Given the description of an element on the screen output the (x, y) to click on. 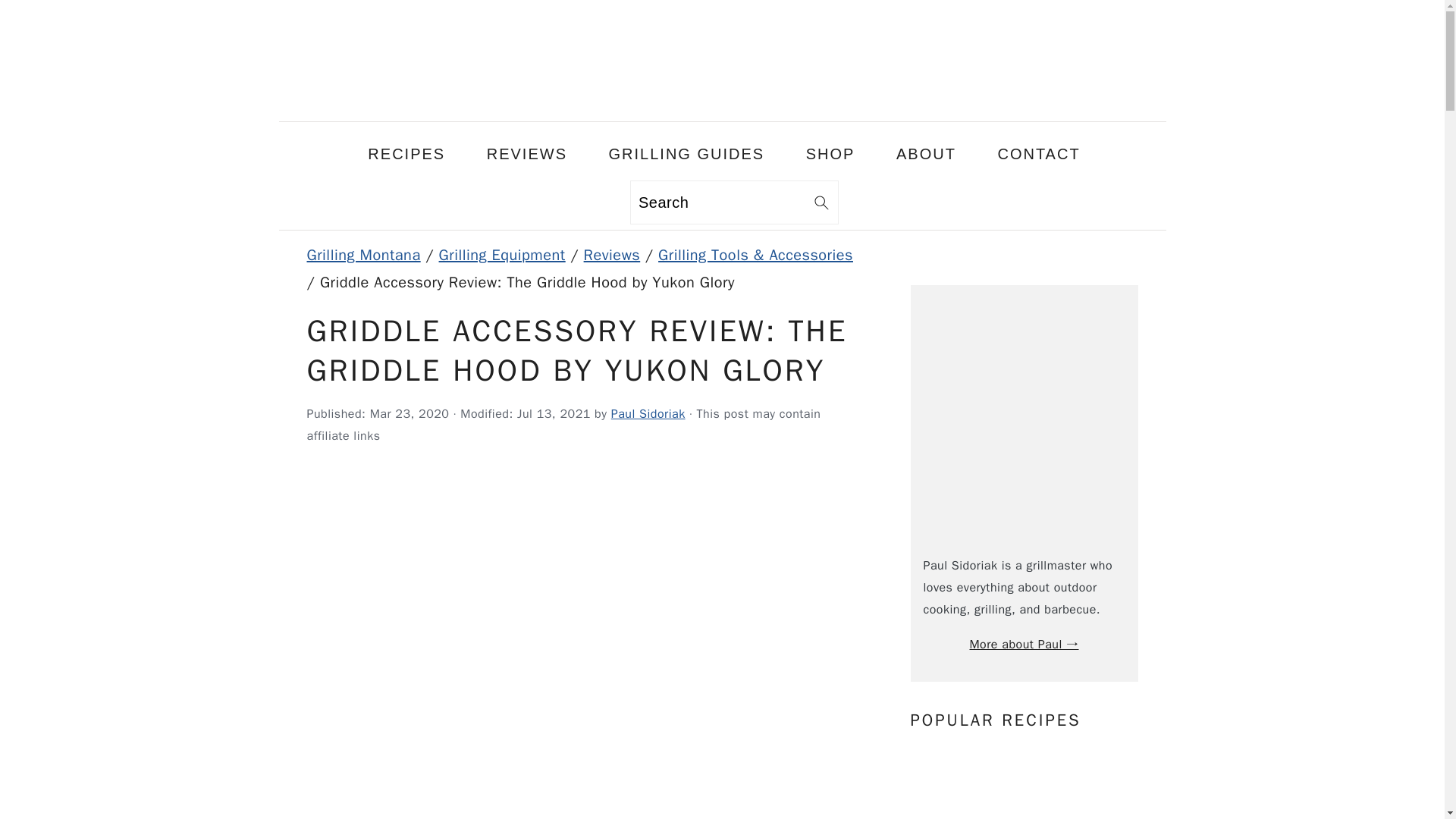
Grilling Equipment (502, 254)
Grilling Montana (362, 254)
CONTACT (1038, 153)
Grilling Montana (721, 107)
ABOUT (926, 153)
Paul Sidoriak (648, 413)
SHOP (830, 153)
